Given the description of an element on the screen output the (x, y) to click on. 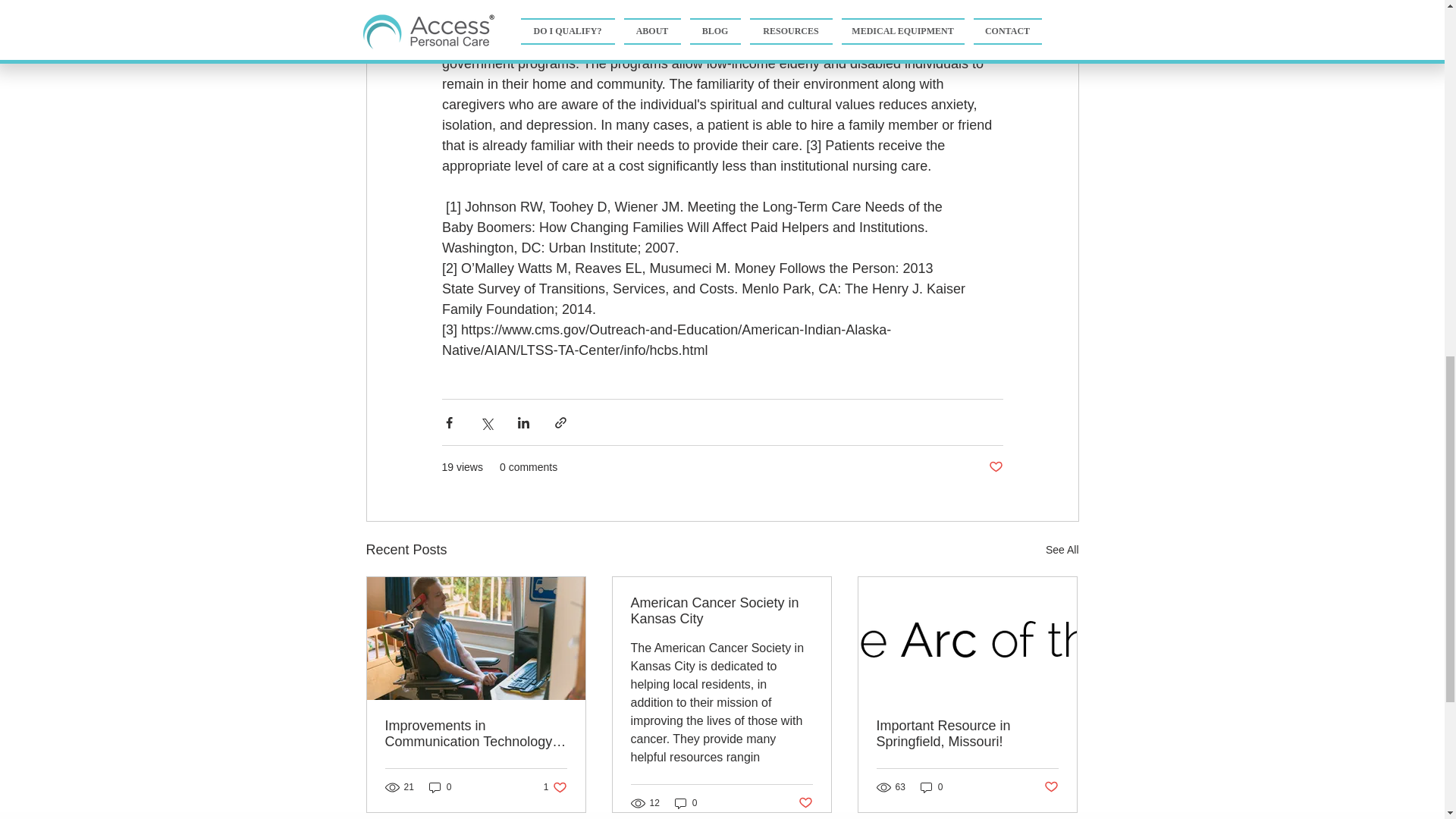
0 (931, 786)
Post not marked as liked (804, 802)
0 (555, 786)
See All (685, 803)
Post not marked as liked (1061, 549)
Post not marked as liked (995, 467)
Important Resource in Springfield, Missouri! (1050, 787)
0 (967, 734)
American Cancer Society in Kansas City (440, 786)
